Given the description of an element on the screen output the (x, y) to click on. 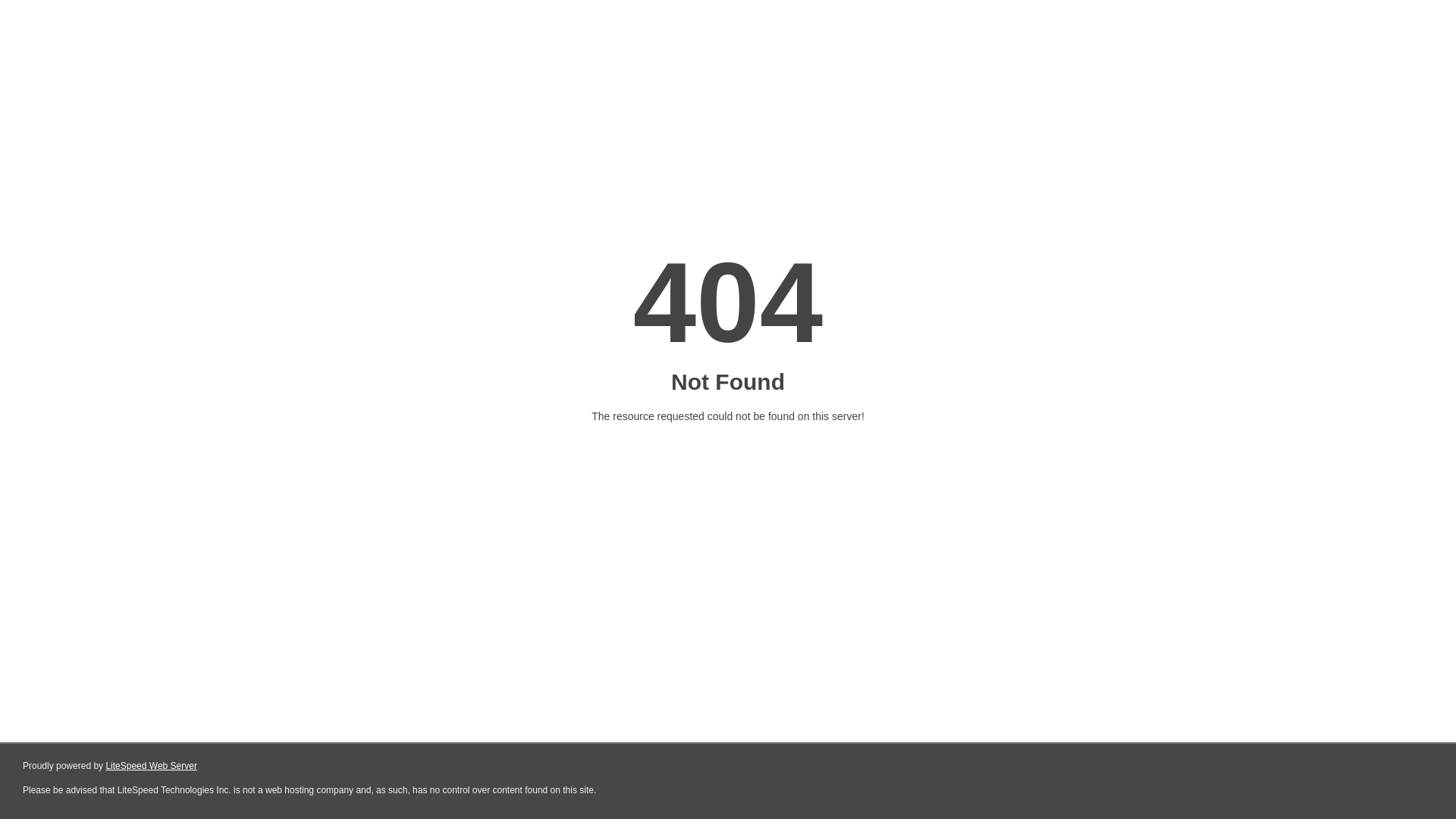
LiteSpeed Web Server Element type: text (151, 765)
